Given the description of an element on the screen output the (x, y) to click on. 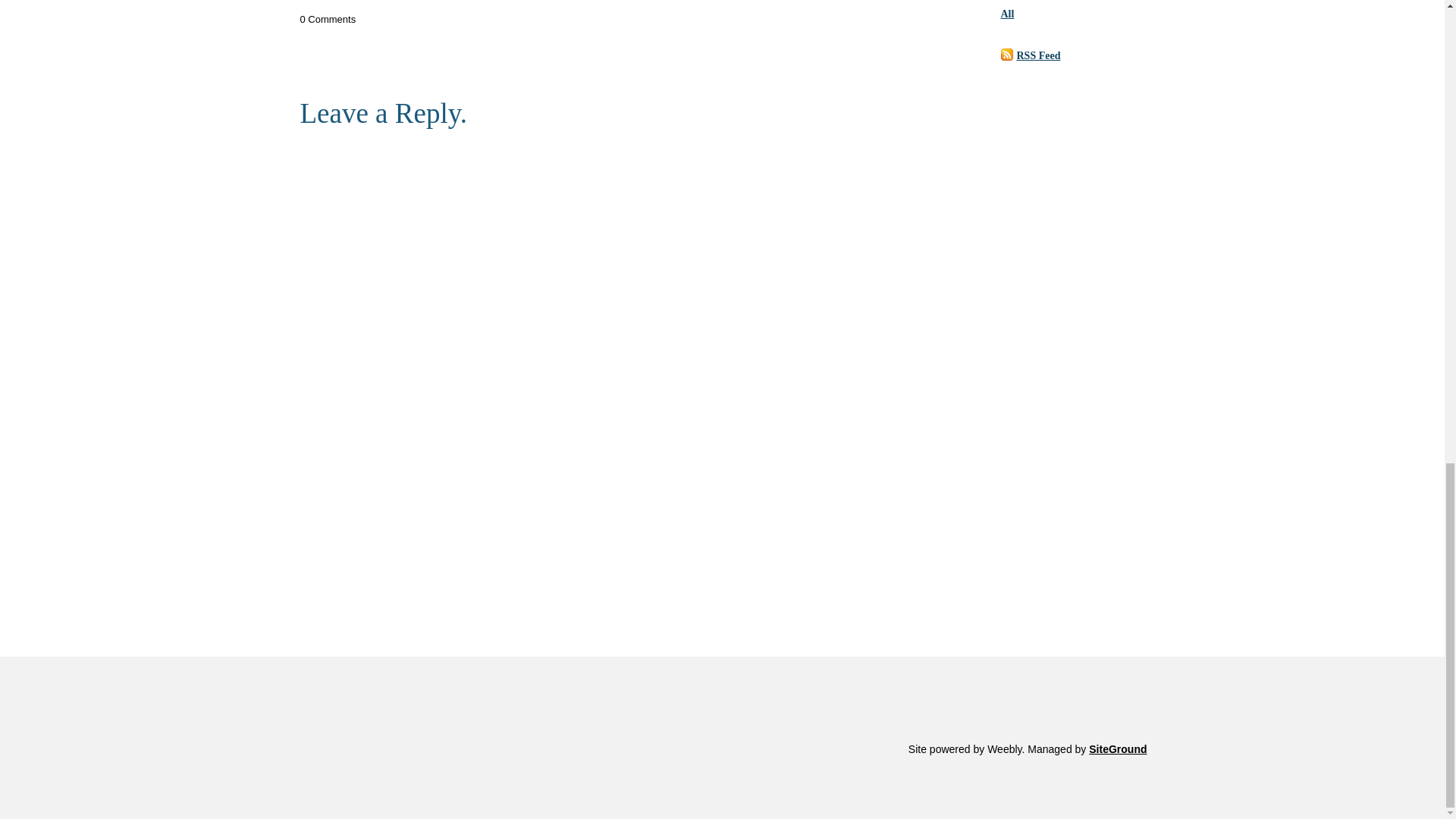
0 Comments (327, 19)
All (1007, 13)
RSS Feed (1037, 55)
SiteGround (1118, 748)
